Given the description of an element on the screen output the (x, y) to click on. 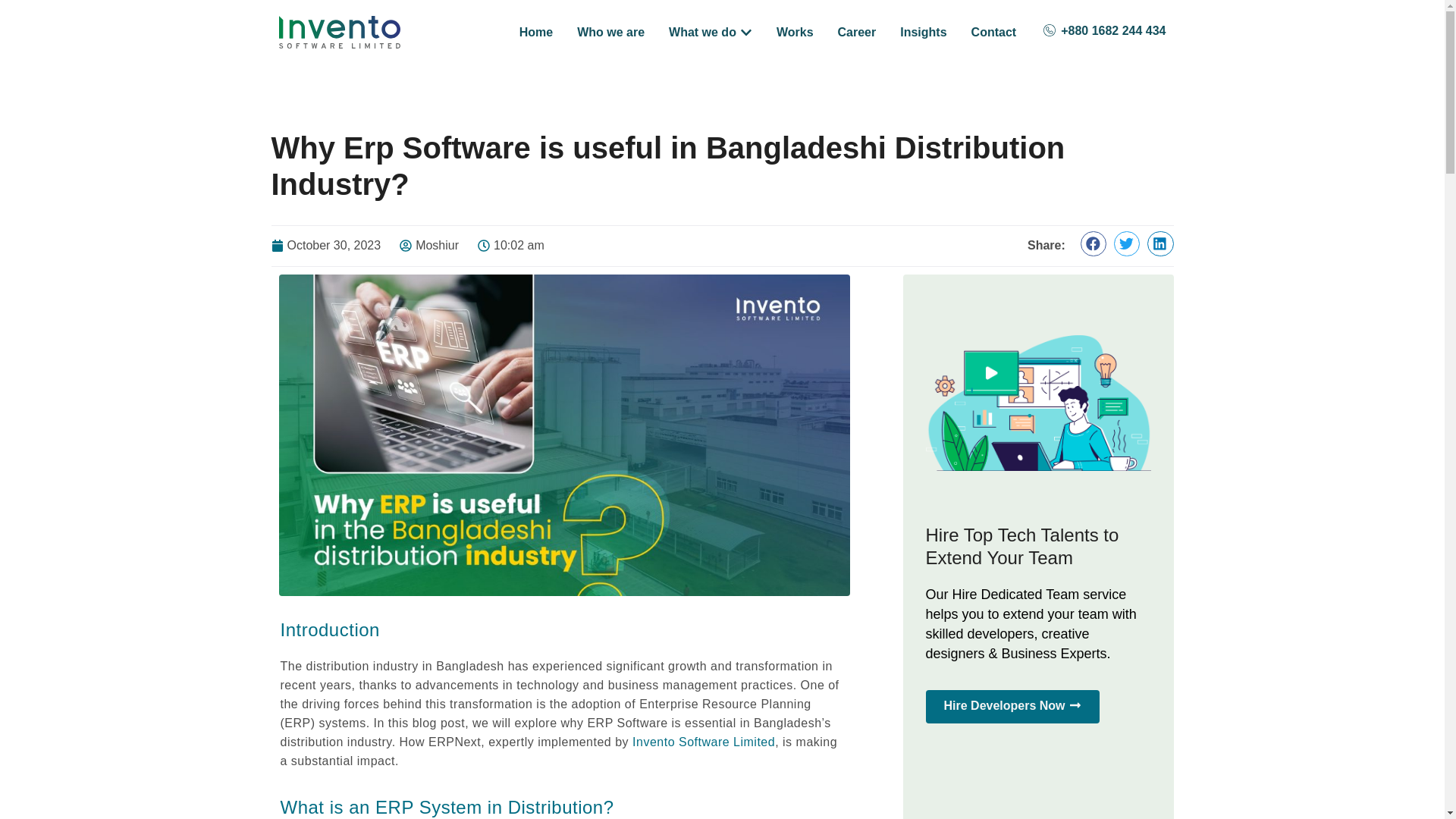
Insights (922, 31)
Who we are (610, 31)
Works (794, 31)
Home (536, 31)
Contact (993, 31)
 Invento Software Limited (701, 741)
Career (857, 31)
What we do (702, 31)
